Given the description of an element on the screen output the (x, y) to click on. 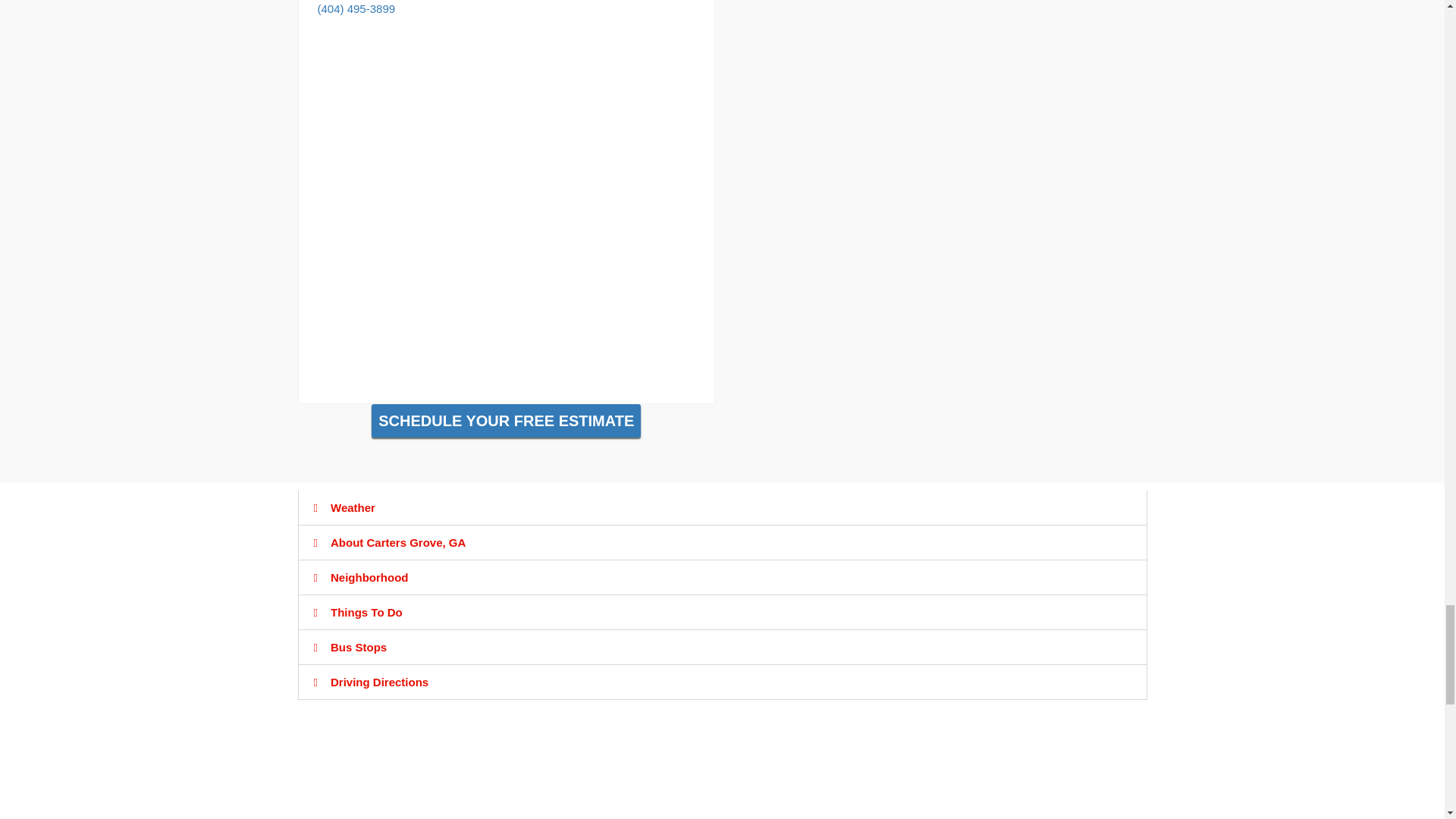
Things To Do (366, 612)
About Carters Grove, GA (397, 542)
Weather (352, 507)
Bus Stops (358, 646)
SCHEDULE YOUR FREE ESTIMATE (505, 420)
Driving Directions (379, 681)
Neighborhood (368, 576)
